Given the description of an element on the screen output the (x, y) to click on. 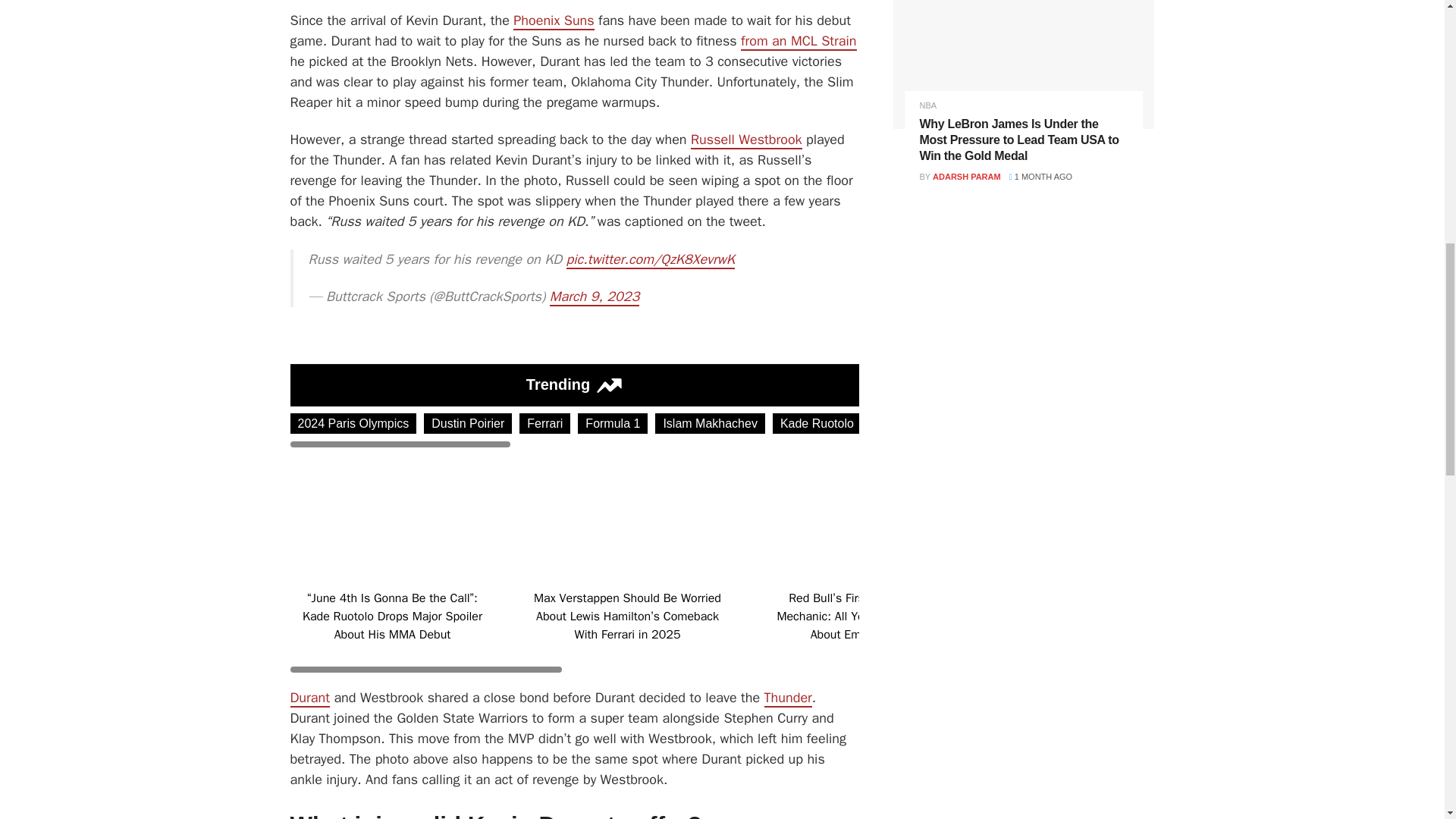
Ferrari (544, 423)
Formula 1 (612, 423)
2024 Paris Olympics (352, 423)
Dustin Poirier (467, 423)
from an MCL Strain (798, 41)
Islam Makhachev (710, 423)
March 9, 2023 (595, 297)
